Given the description of an element on the screen output the (x, y) to click on. 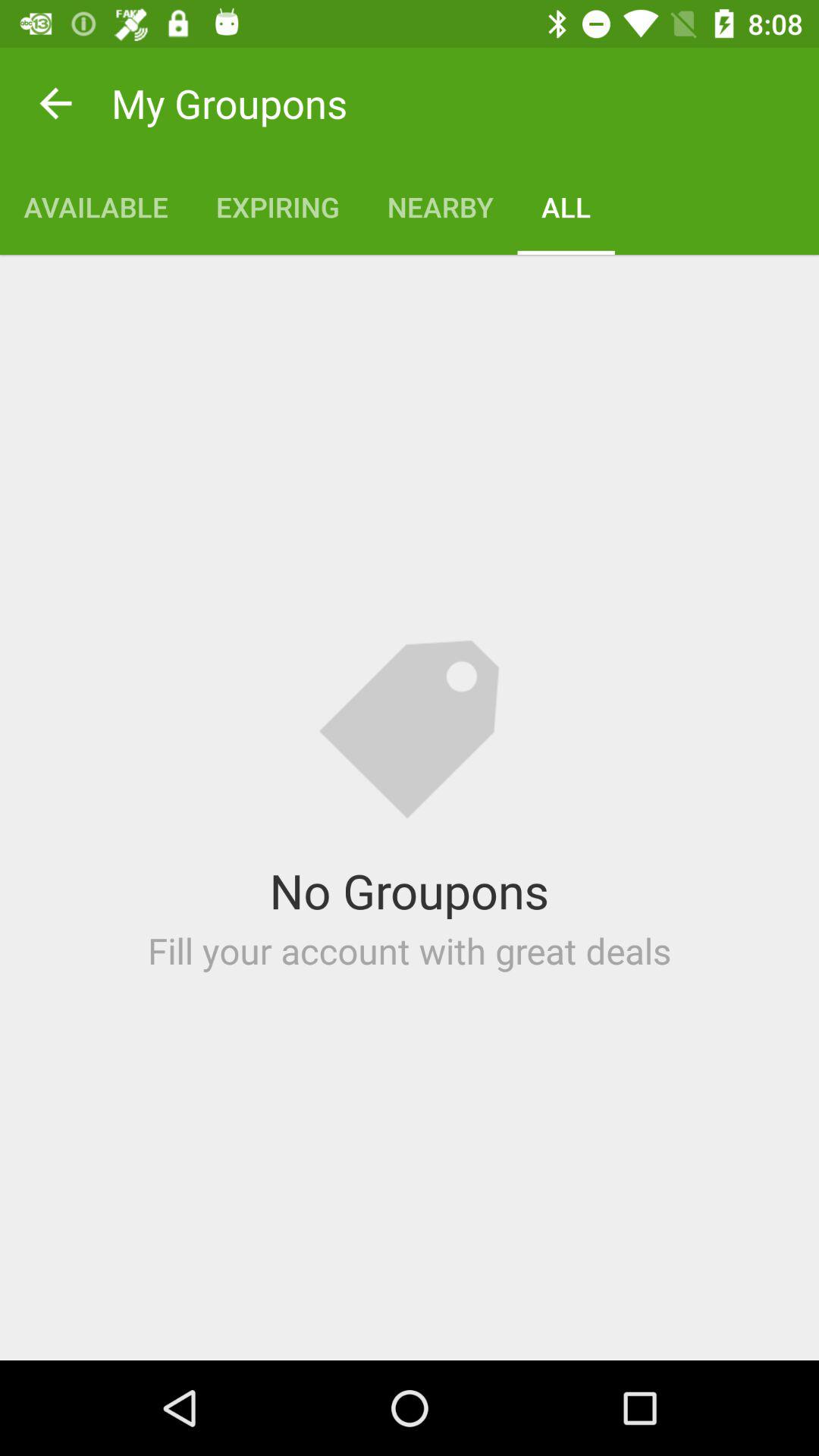
select item to the right of nearby item (565, 206)
